Given the description of an element on the screen output the (x, y) to click on. 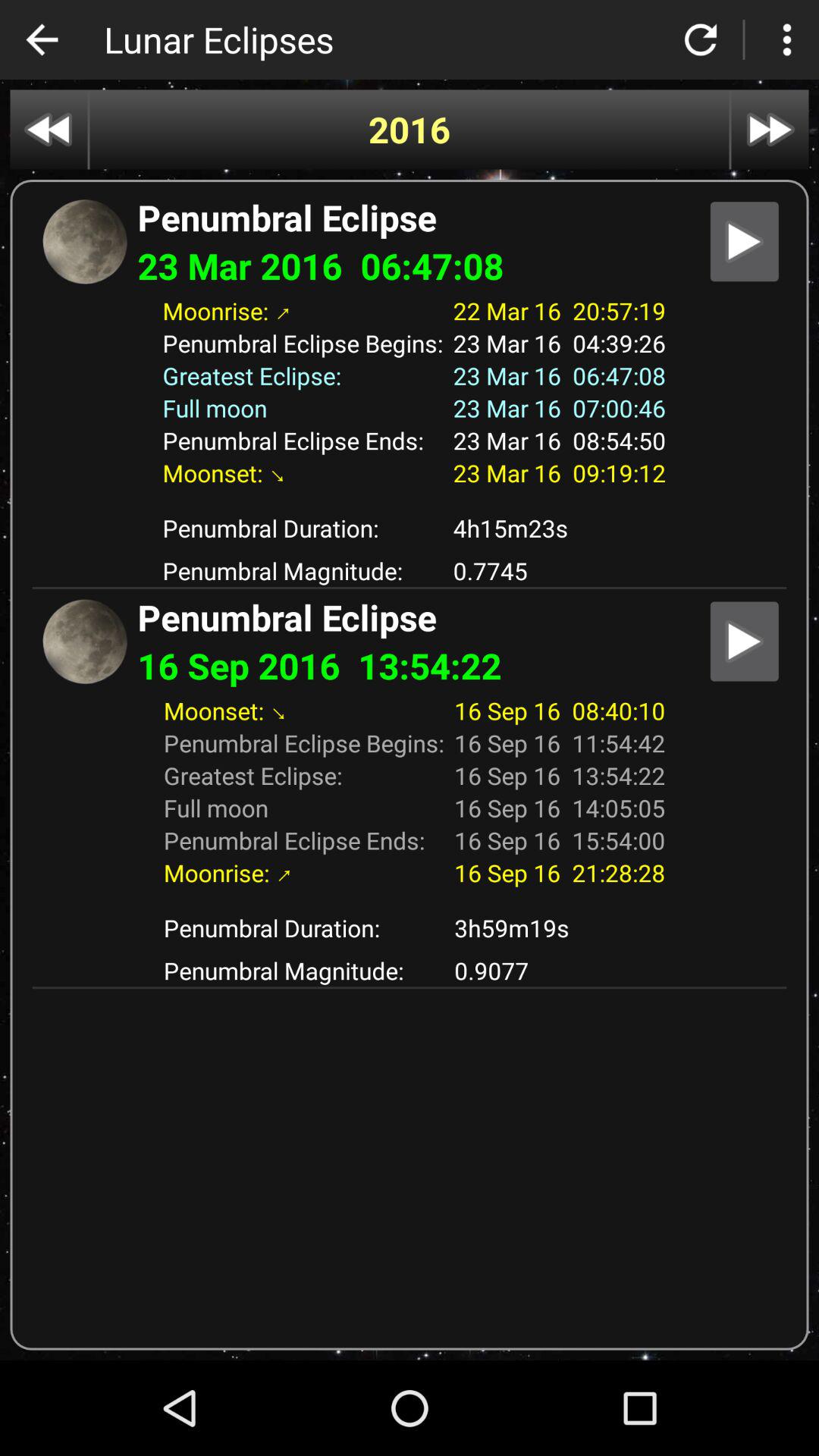
reload option (700, 39)
